Given the description of an element on the screen output the (x, y) to click on. 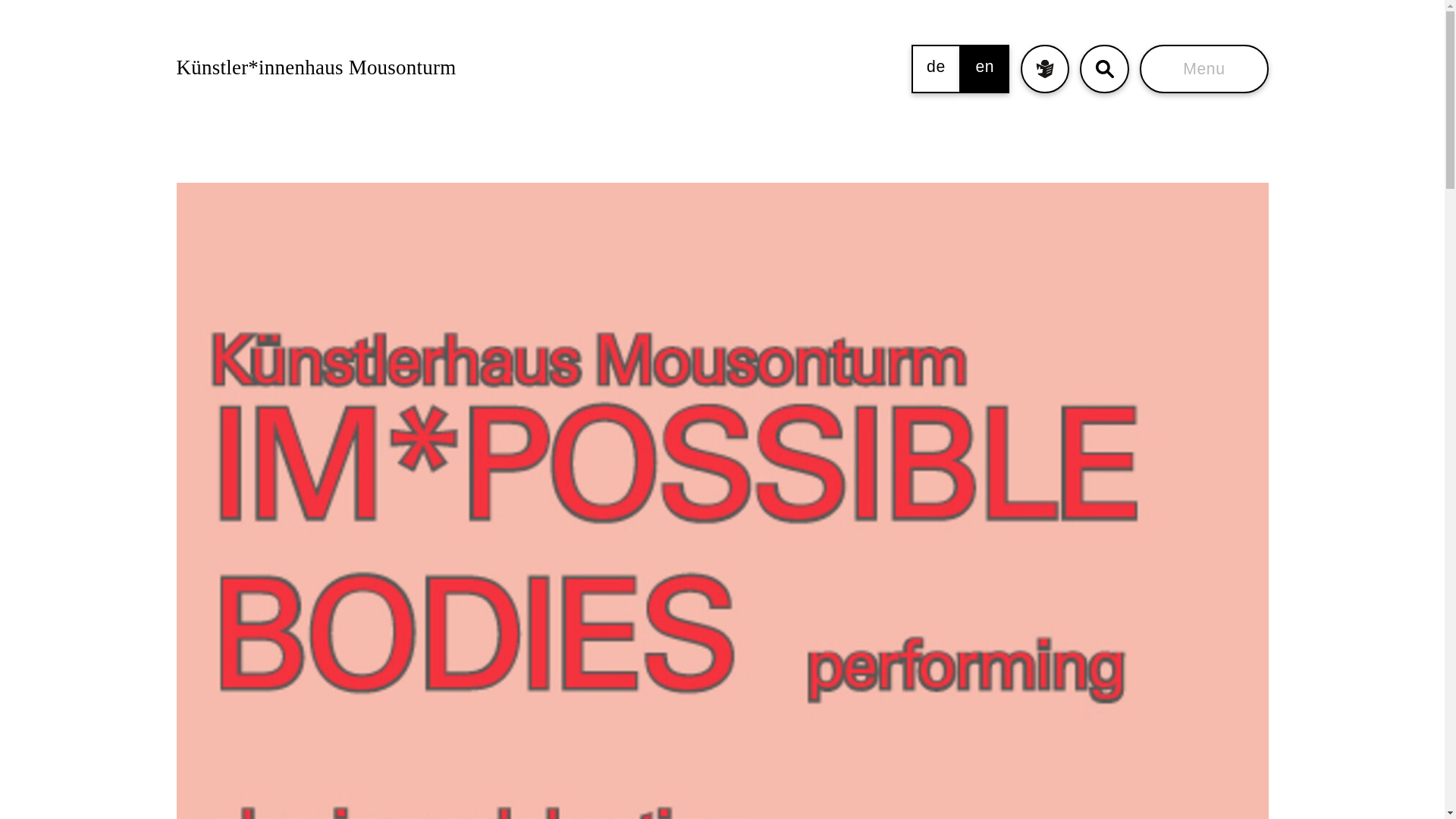
en (984, 69)
Menu (1204, 69)
de (935, 69)
